Given the description of an element on the screen output the (x, y) to click on. 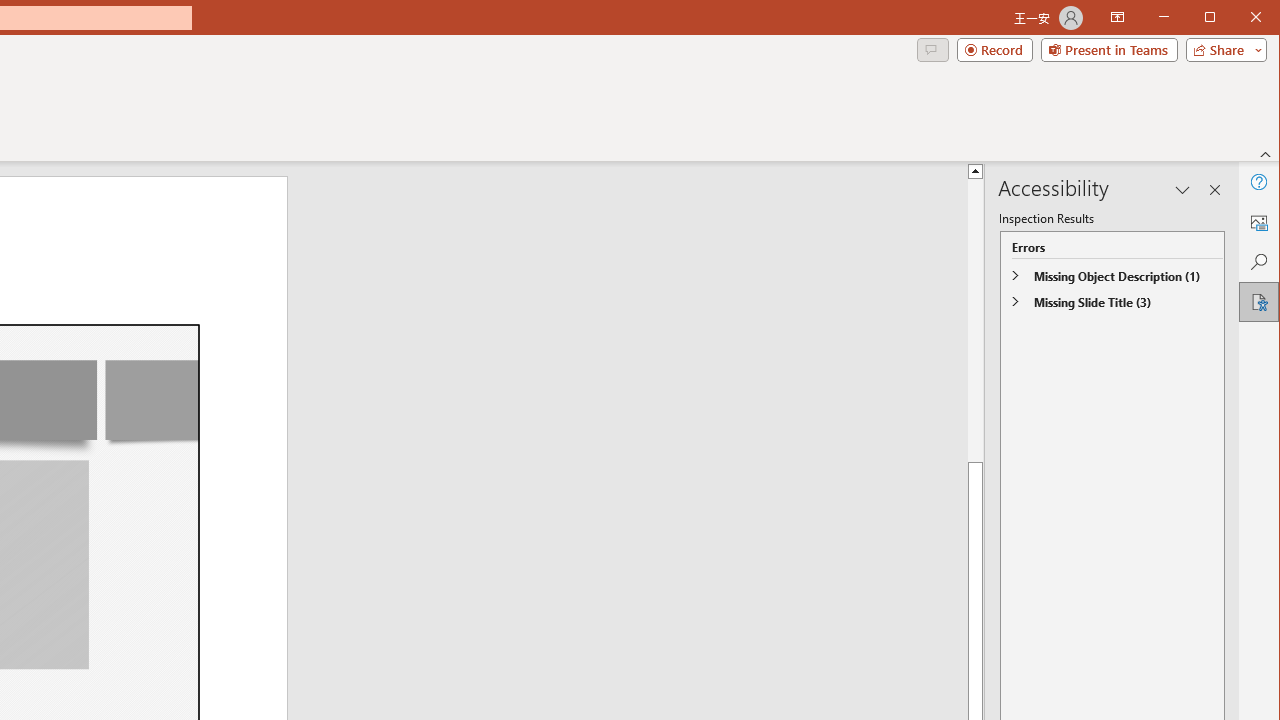
Alt Text (1258, 221)
Maximize (1238, 18)
Page up (1230, 320)
